Given the description of an element on the screen output the (x, y) to click on. 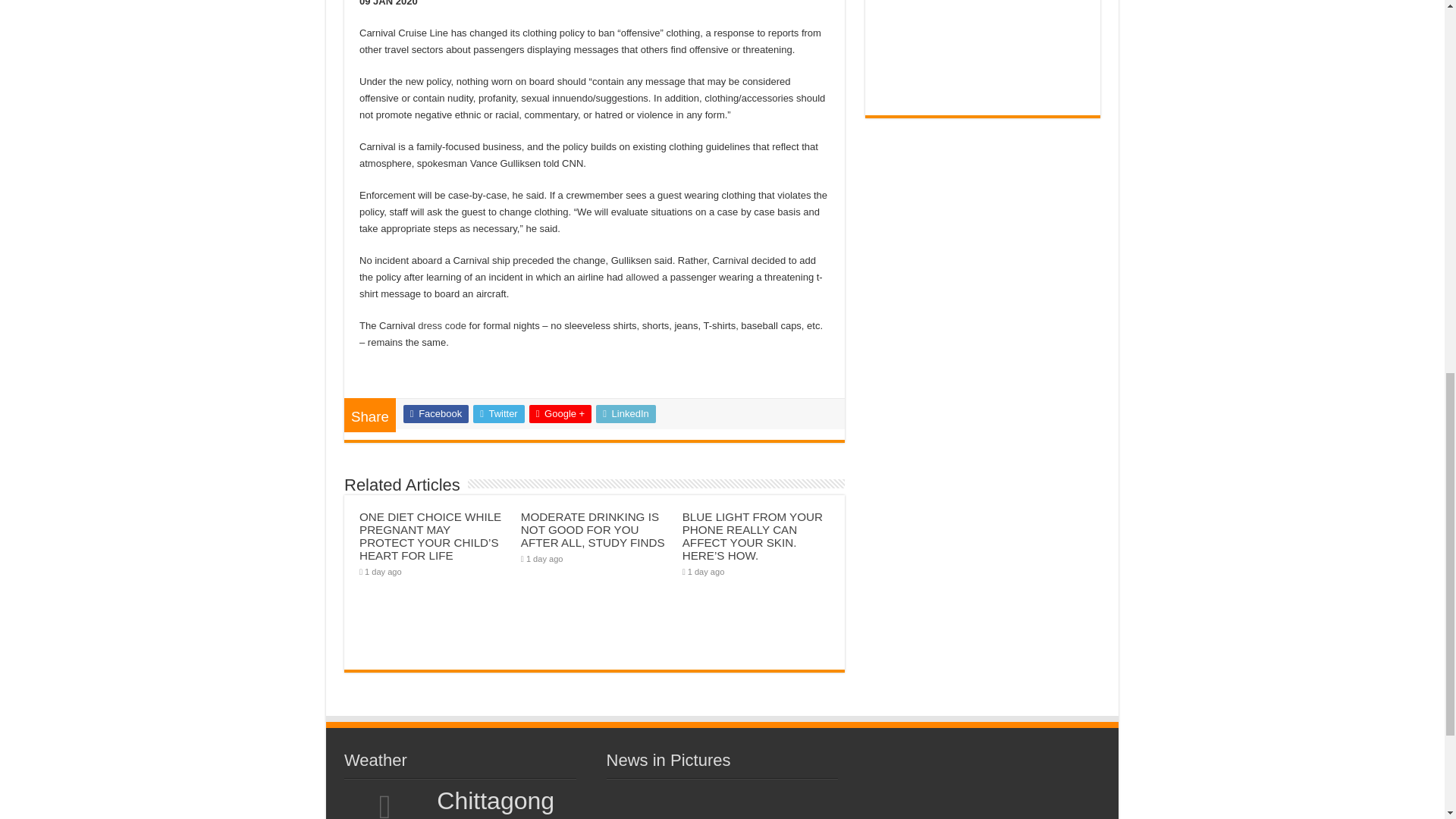
allowed (642, 276)
LinkedIn (625, 413)
Facebook (435, 413)
Twitter (498, 413)
MODERATE DRINKING IS NOT GOOD FOR YOU AFTER ALL, STUDY FINDS (593, 529)
Scroll To Top (1421, 60)
dress code (441, 325)
